Given the description of an element on the screen output the (x, y) to click on. 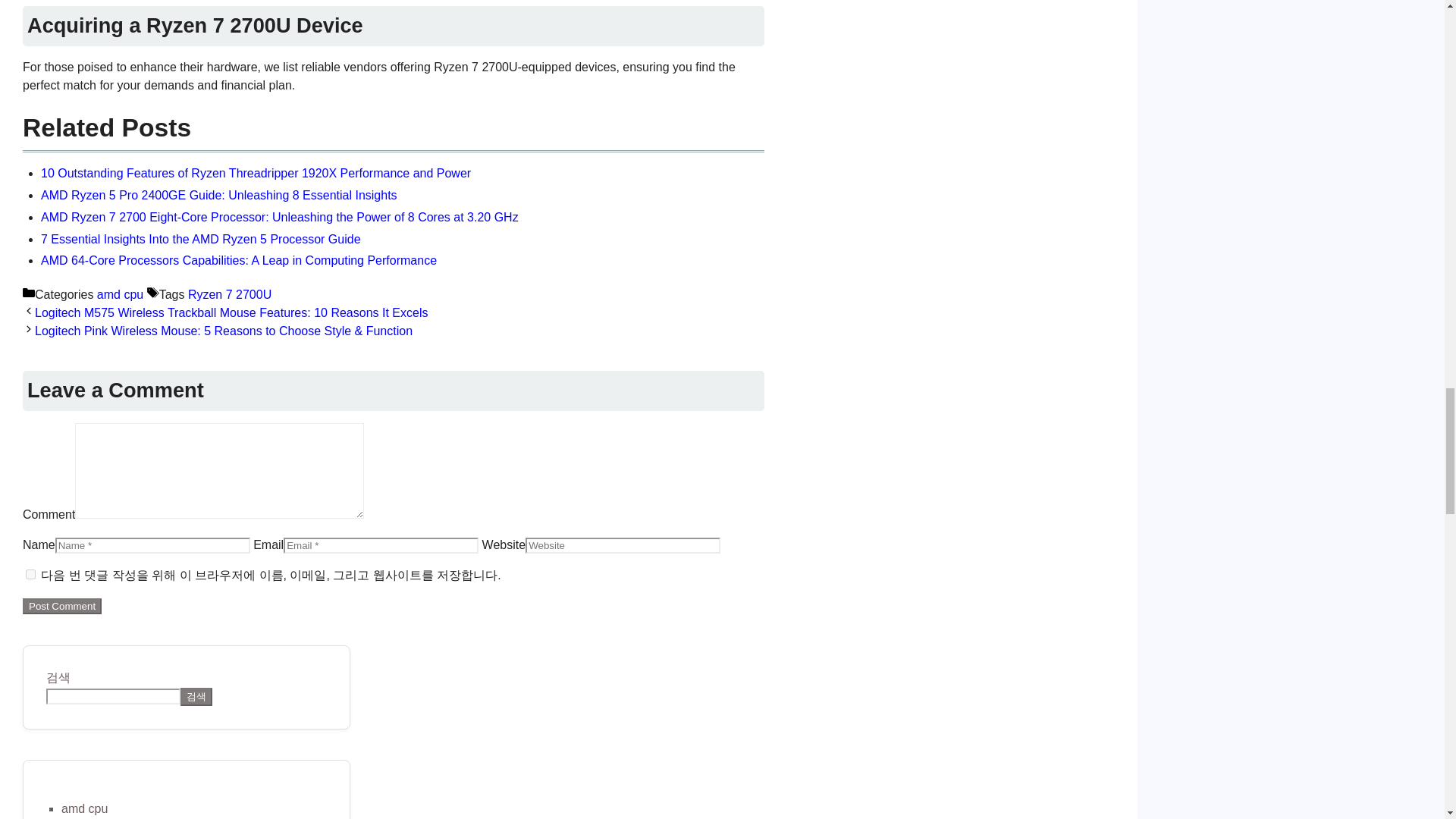
yes (30, 574)
amd cpu (119, 294)
7 Essential Insights Into the AMD Ryzen 5 Processor Guide (200, 237)
Ryzen 7 2700U (228, 294)
amd cpu (84, 808)
Post Comment (62, 606)
Post Comment (62, 606)
